Given the description of an element on the screen output the (x, y) to click on. 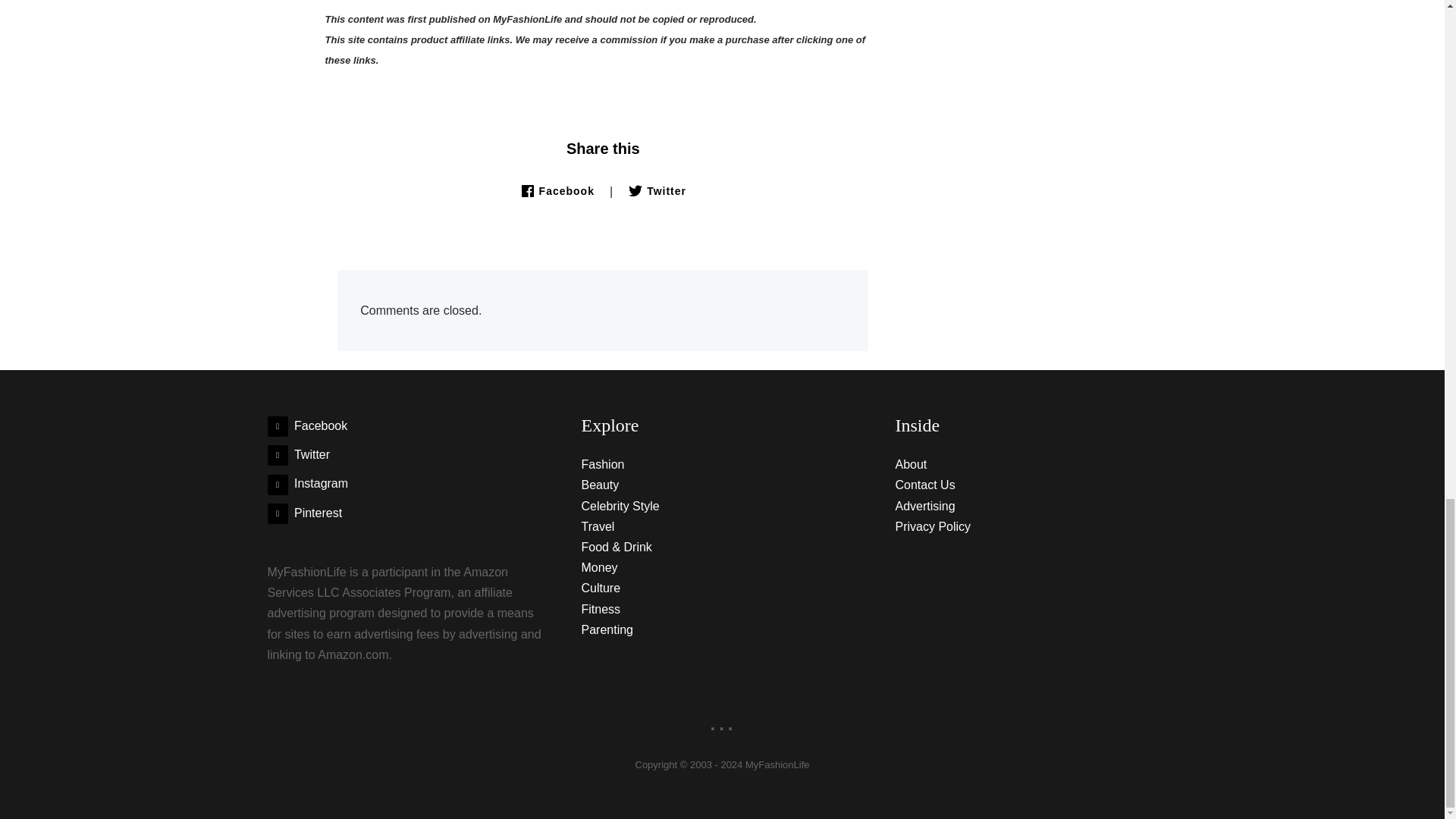
Instagram (306, 482)
Twitter (298, 454)
Share this on Facebook (556, 191)
Pinterest (304, 512)
Facebook (306, 425)
Tweet this on Twitter (656, 191)
